Given the description of an element on the screen output the (x, y) to click on. 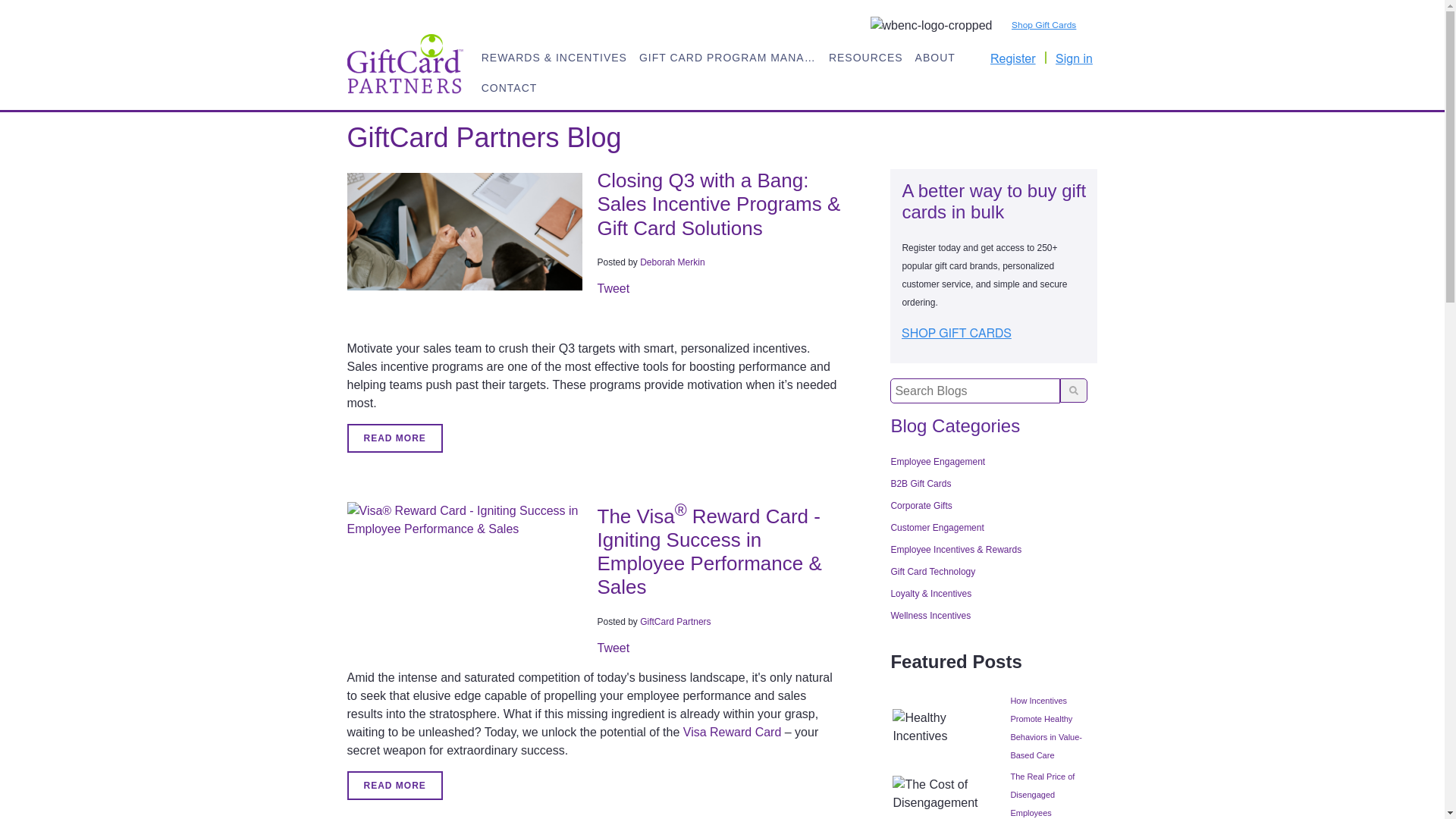
GiftCard Partners Blog (484, 137)
CONTACT (509, 86)
RESOURCES (865, 56)
GCP-Stacked-Small-Trans-opt-B (405, 64)
GIFT CARD PROGRAM MANAGEMENT (727, 56)
ABOUT (934, 56)
wbenc-logo-cropped (931, 25)
